Given the description of an element on the screen output the (x, y) to click on. 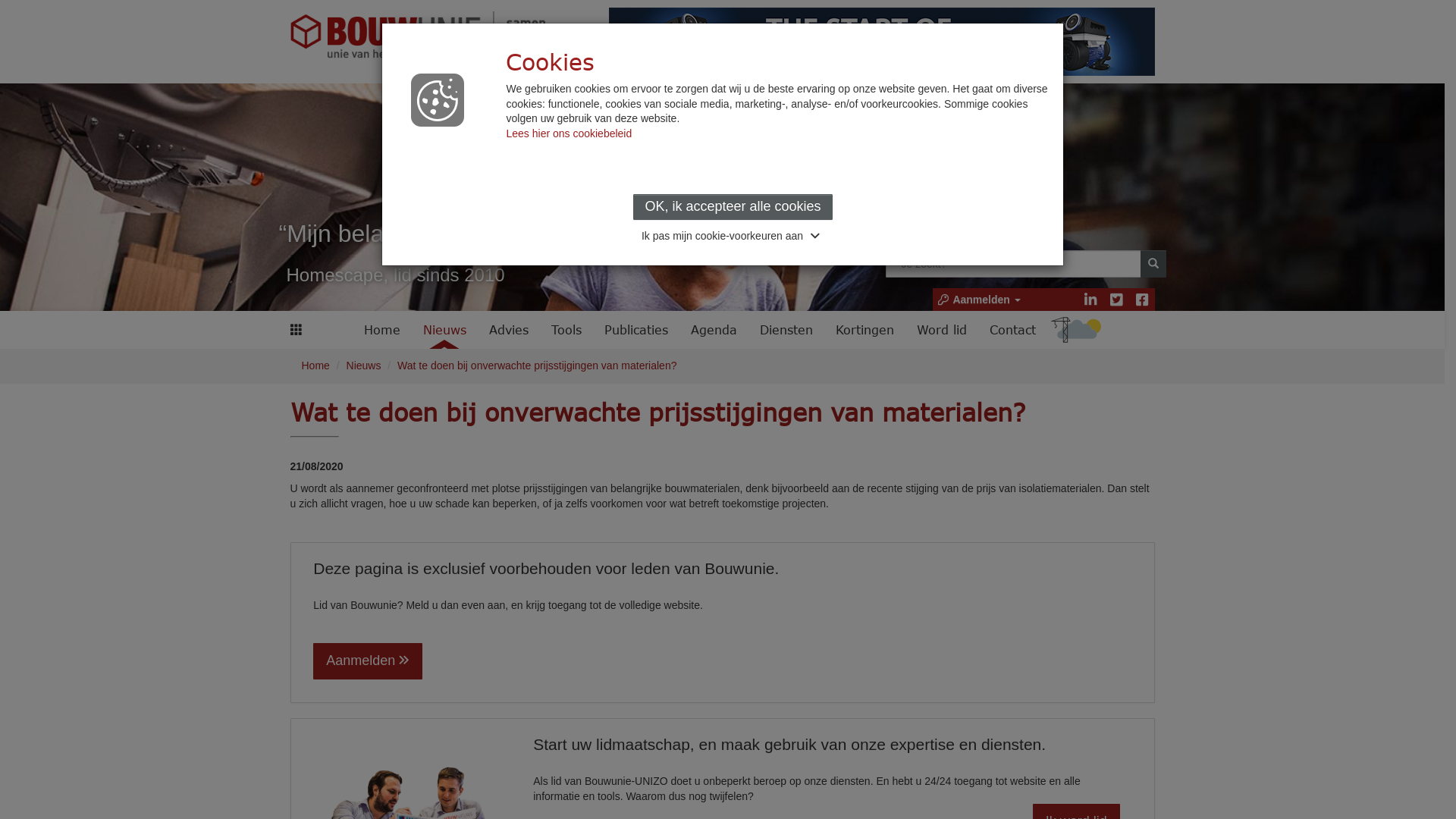
Advies Element type: text (508, 329)
Nieuws Element type: text (363, 365)
Nieuws Element type: text (444, 329)
Diensten Element type: text (786, 329)
Tools Element type: text (566, 329)
Bouwunie Element type: hover (425, 37)
Ik pas mijn cookie-voorkeuren aan Element type: text (732, 235)
Word lid Element type: text (941, 329)
Aanmelden Element type: text (978, 299)
Lees hier ons cookiebeleid Element type: text (568, 133)
OK, ik accepteer alle cookies Element type: text (732, 207)
Kortingen Element type: text (864, 329)
Publicaties Element type: text (636, 329)
Wat te doen bij onverwachte prijsstijgingen van materialen? Element type: text (536, 365)
Home Element type: text (315, 365)
  Element type: text (1076, 329)
Agenda Element type: text (713, 329)
Contact Element type: text (1012, 329)
Home Element type: text (381, 329)
